Given the description of an element on the screen output the (x, y) to click on. 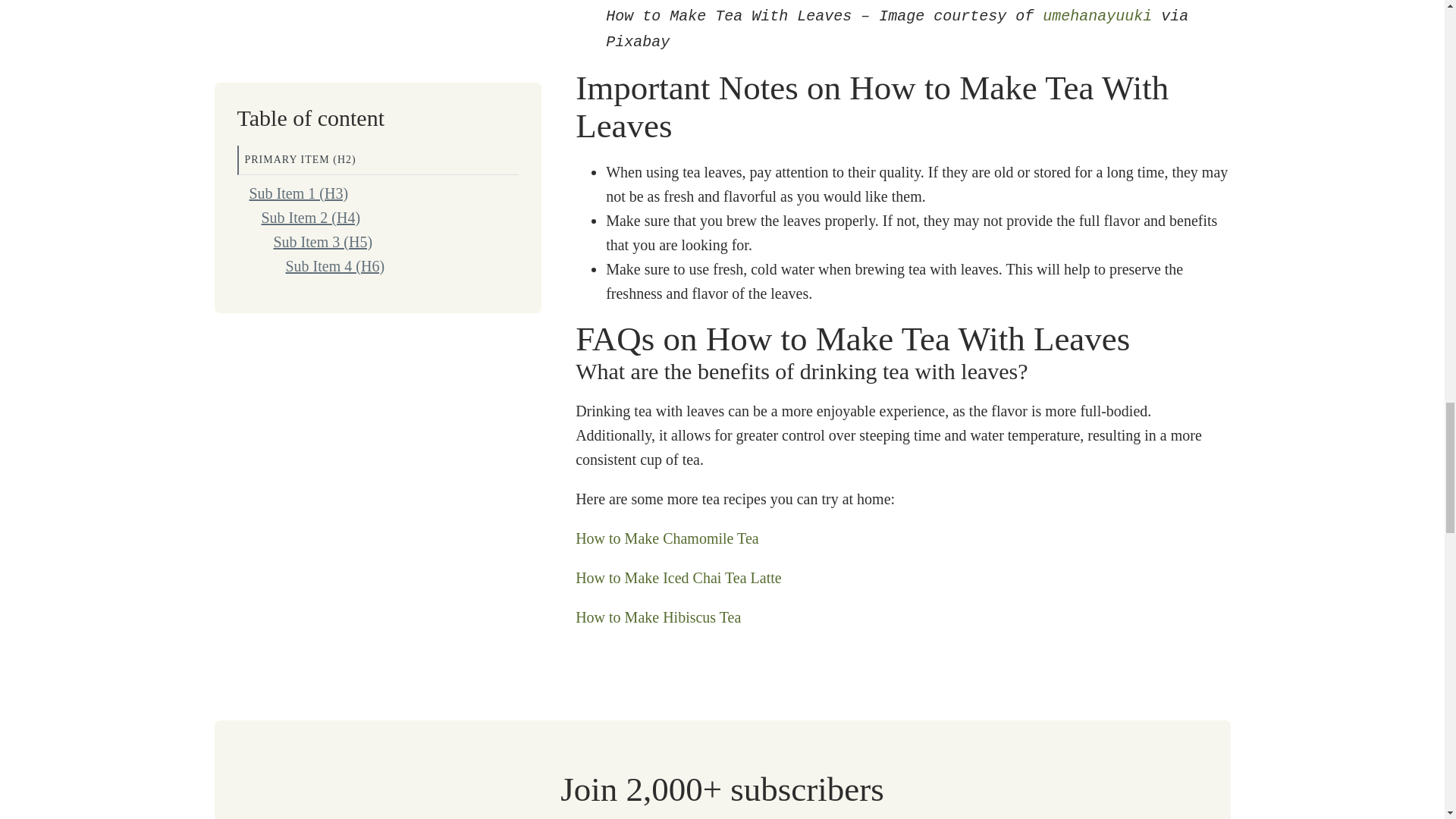
umehanayuuki (1096, 16)
How to Make Hibiscus Tea (658, 616)
How to Make Iced Chai Tea Latte (677, 576)
How to Make Chamomile Tea (666, 537)
